Given the description of an element on the screen output the (x, y) to click on. 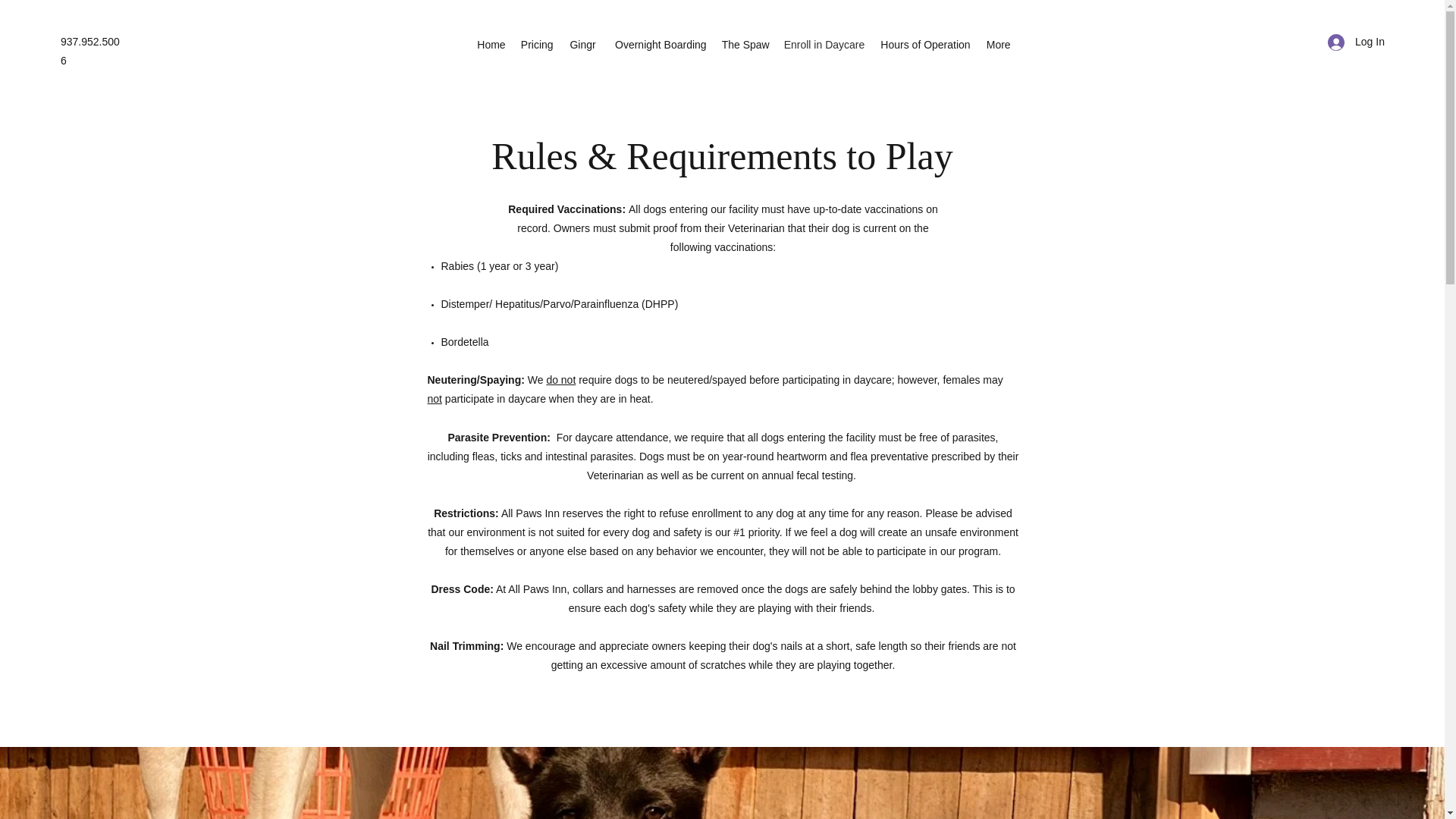
Overnight Boarding (659, 44)
The Spaw (745, 44)
Gingr (582, 44)
Pricing (536, 44)
Log In (1351, 41)
Home (490, 44)
Enroll in Daycare (823, 44)
Hours of Operation (924, 44)
